Given the description of an element on the screen output the (x, y) to click on. 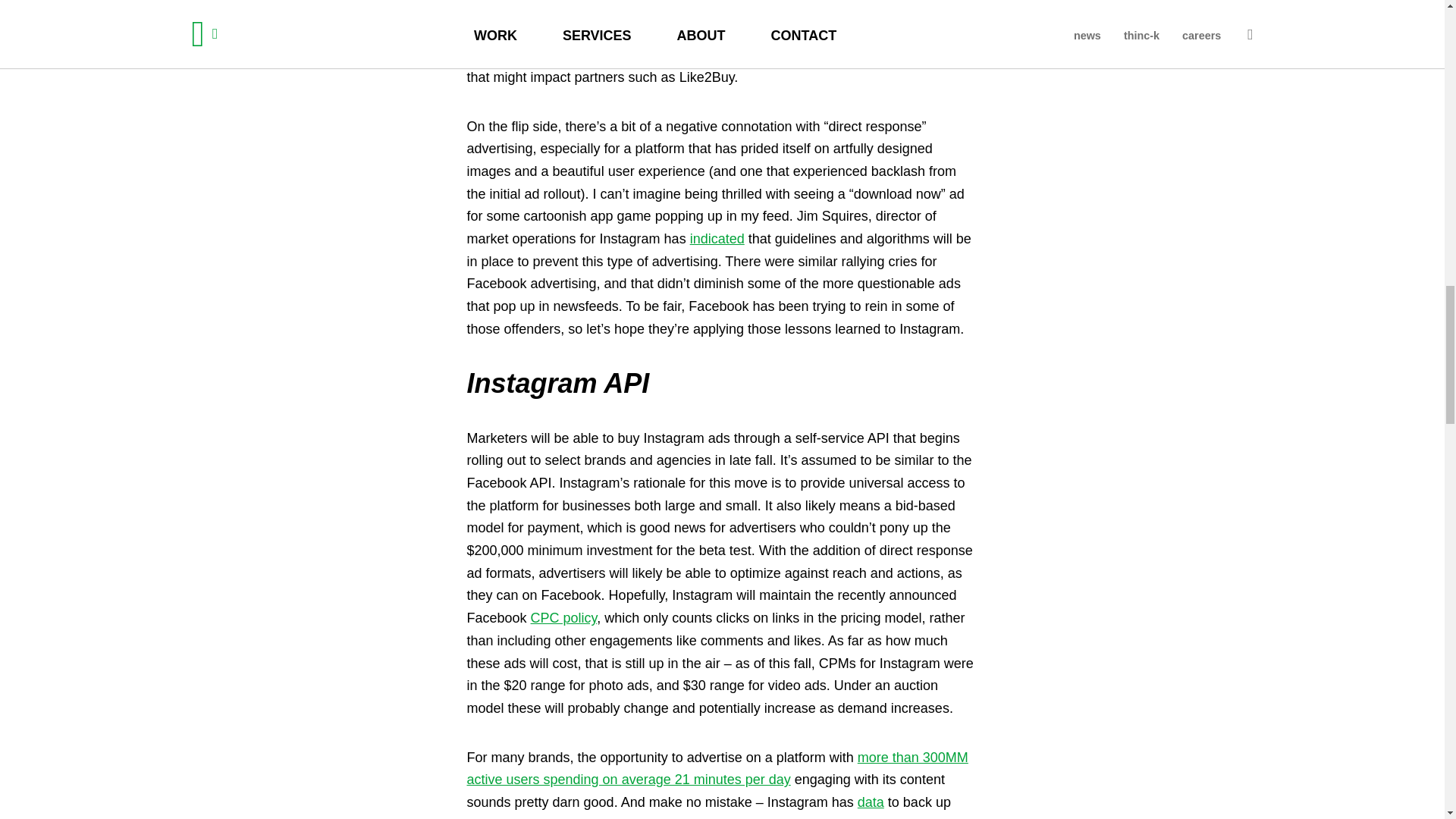
indicated (717, 238)
CPC policy (563, 617)
data (870, 801)
